Given the description of an element on the screen output the (x, y) to click on. 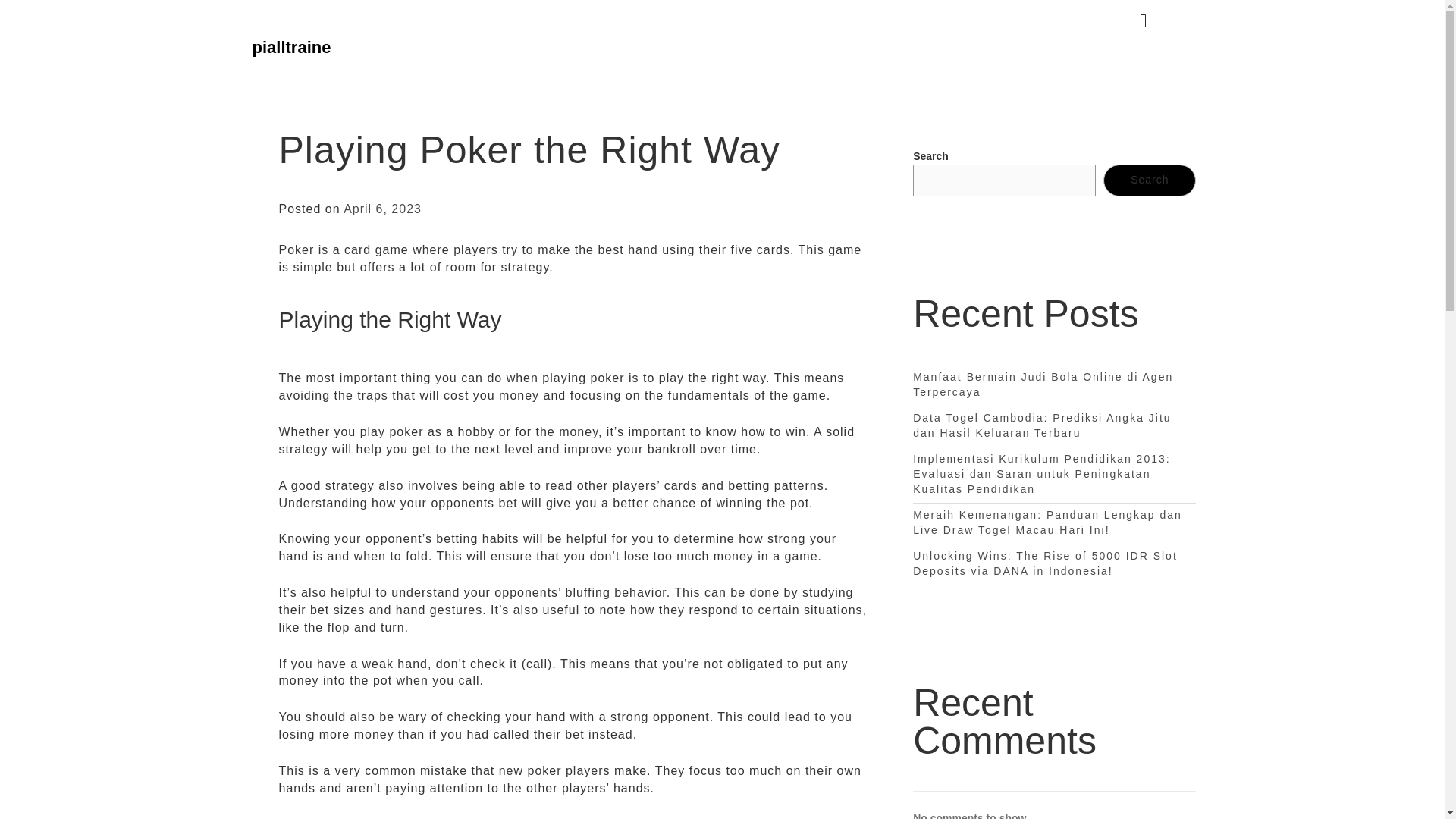
Search (1149, 180)
Manfaat Bermain Judi Bola Online di Agen Terpercaya (1042, 384)
pialltraine (290, 46)
April 6, 2023 (382, 208)
